Given the description of an element on the screen output the (x, y) to click on. 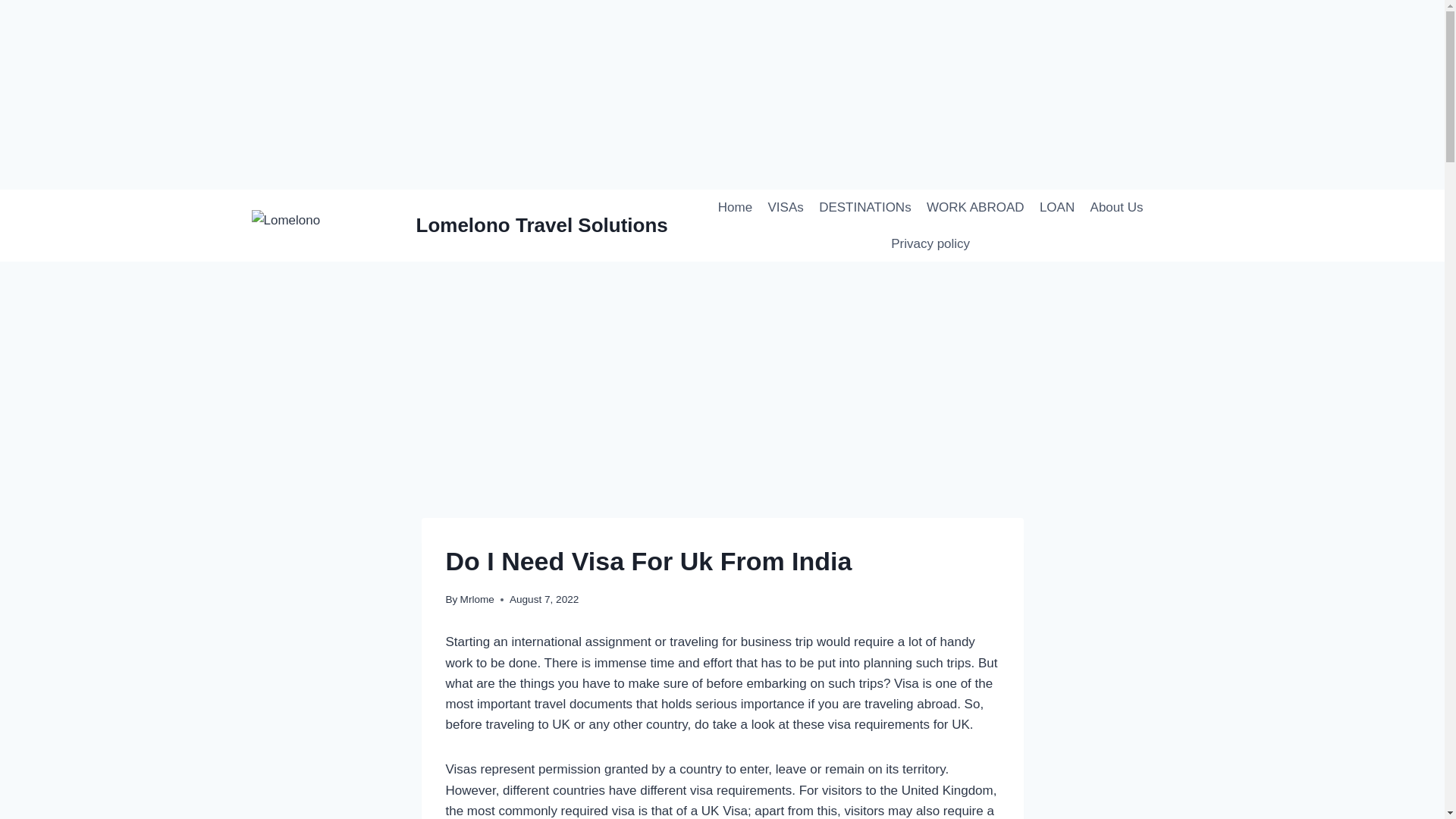
About Us (1115, 207)
Home (735, 207)
VISAs (785, 207)
Lomelono Travel Solutions (459, 224)
WORK ABROAD (975, 207)
DESTINATIONs (864, 207)
LOAN (1057, 207)
Privacy policy (929, 244)
Mrlome (477, 599)
